Given the description of an element on the screen output the (x, y) to click on. 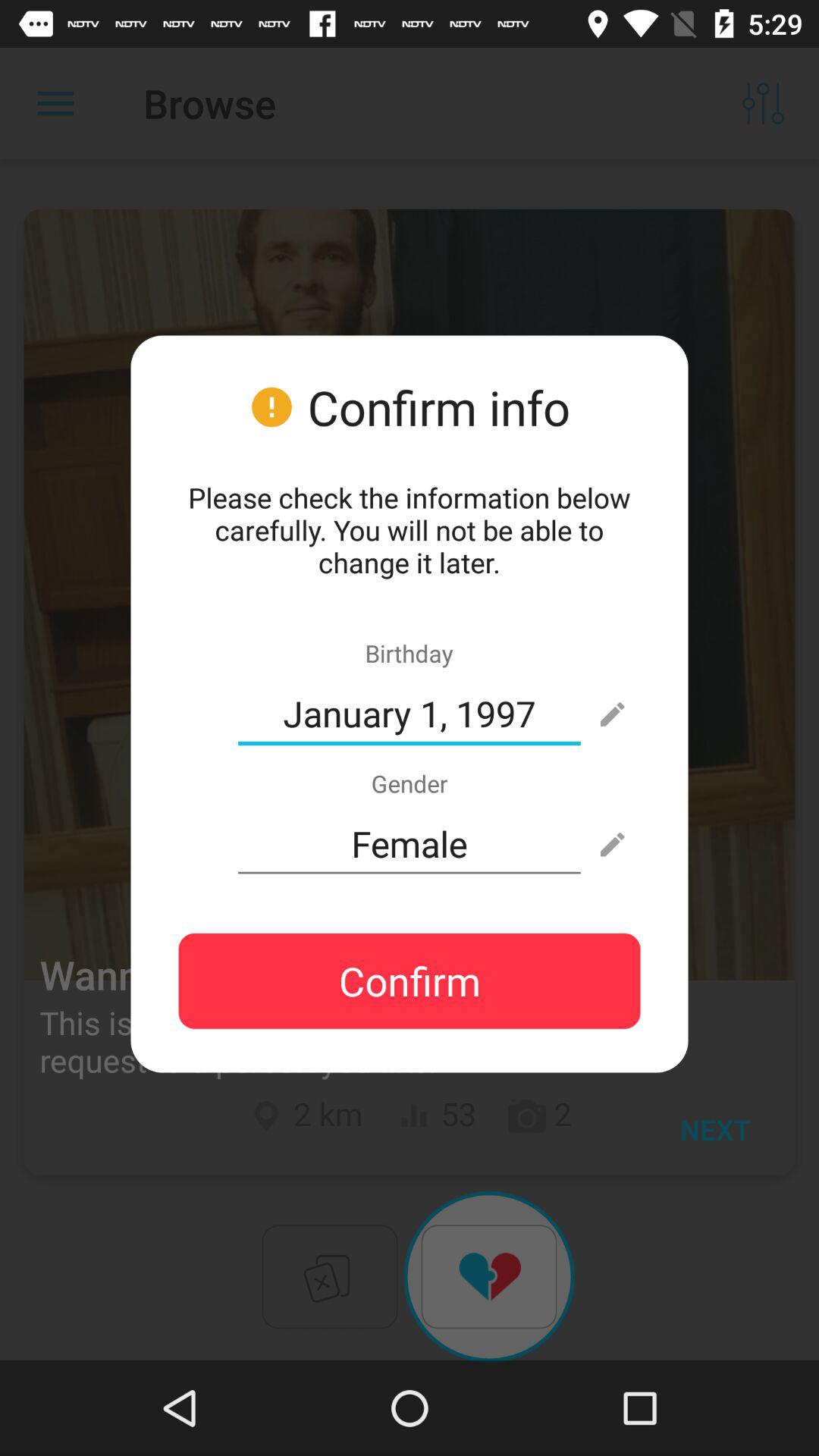
scroll to female item (409, 844)
